Given the description of an element on the screen output the (x, y) to click on. 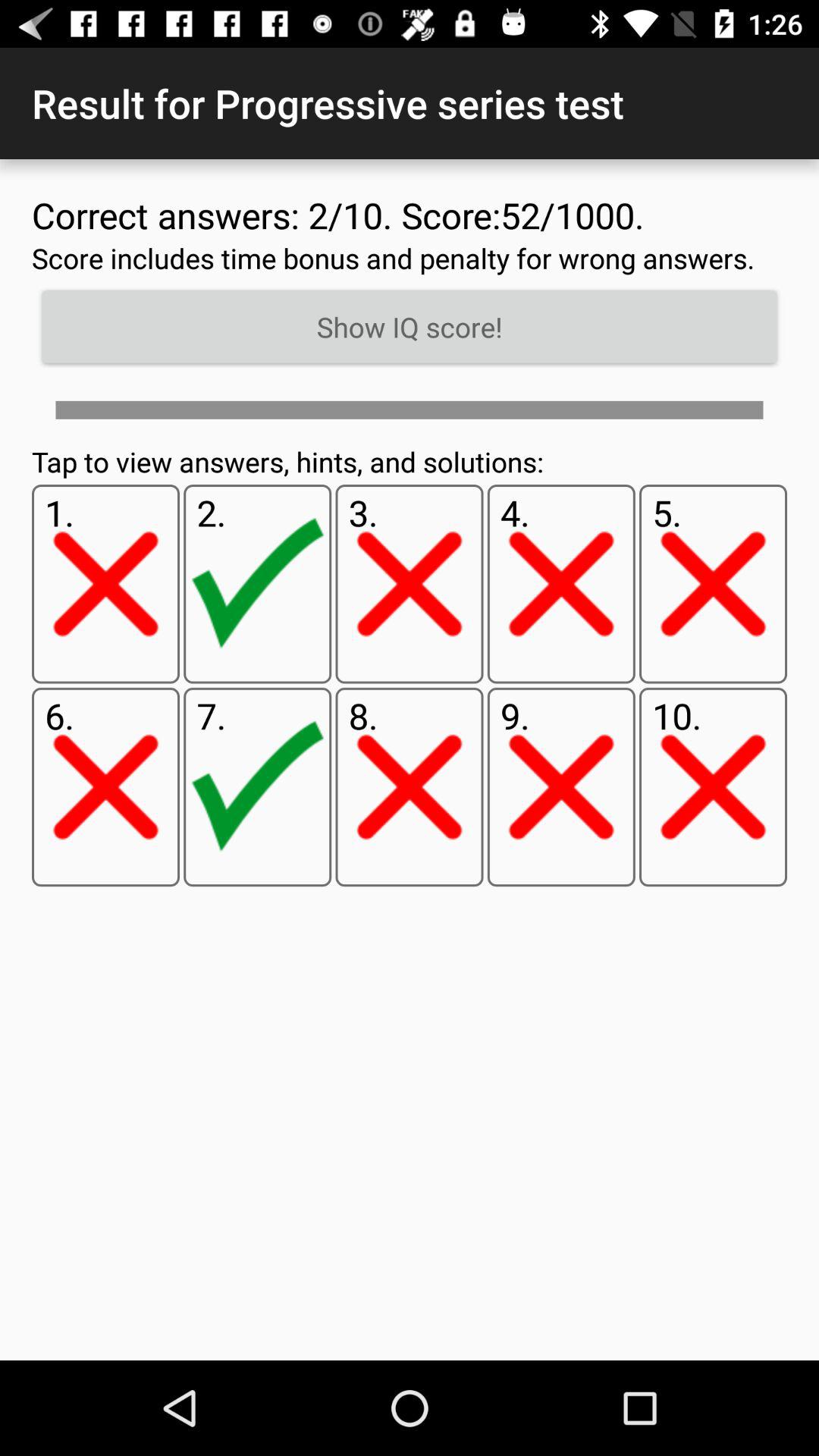
open show iq score! icon (409, 326)
